Given the description of an element on the screen output the (x, y) to click on. 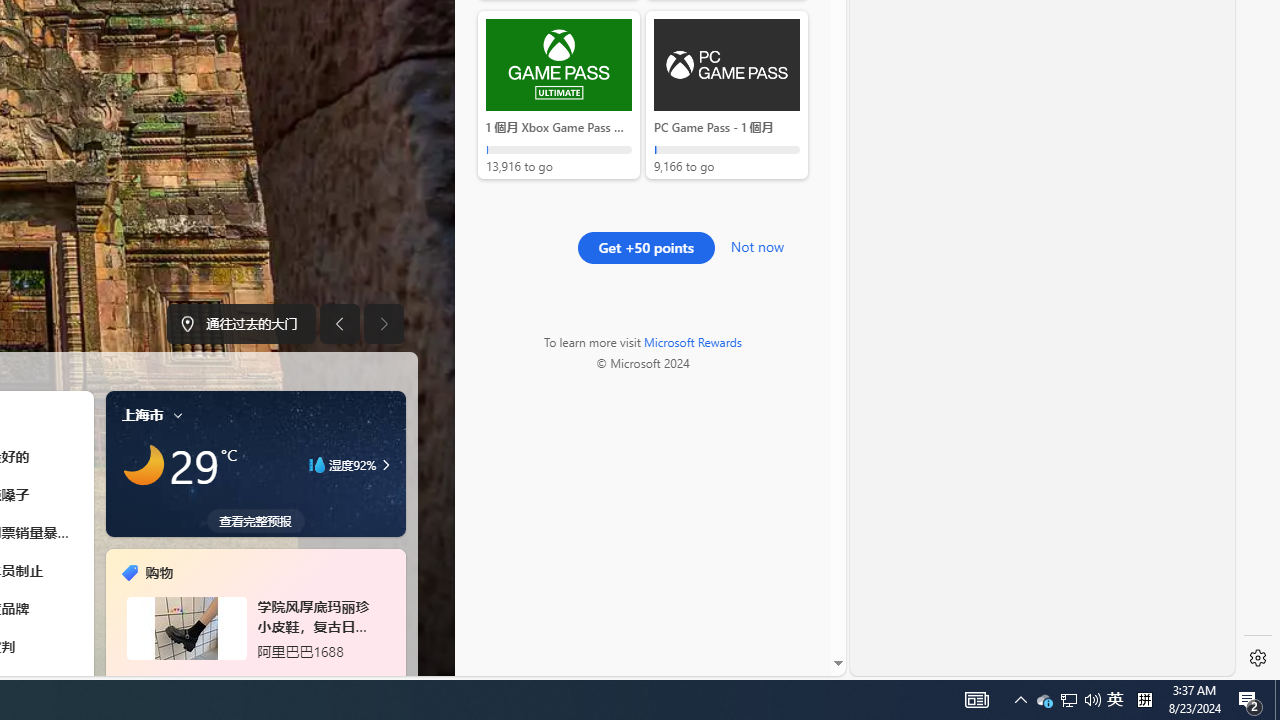
Microsoft Rewards (692, 341)
tab-2 (219, 678)
tab-7 (278, 678)
Class: icon-img (177, 414)
tab-4 (242, 678)
